Given the description of an element on the screen output the (x, y) to click on. 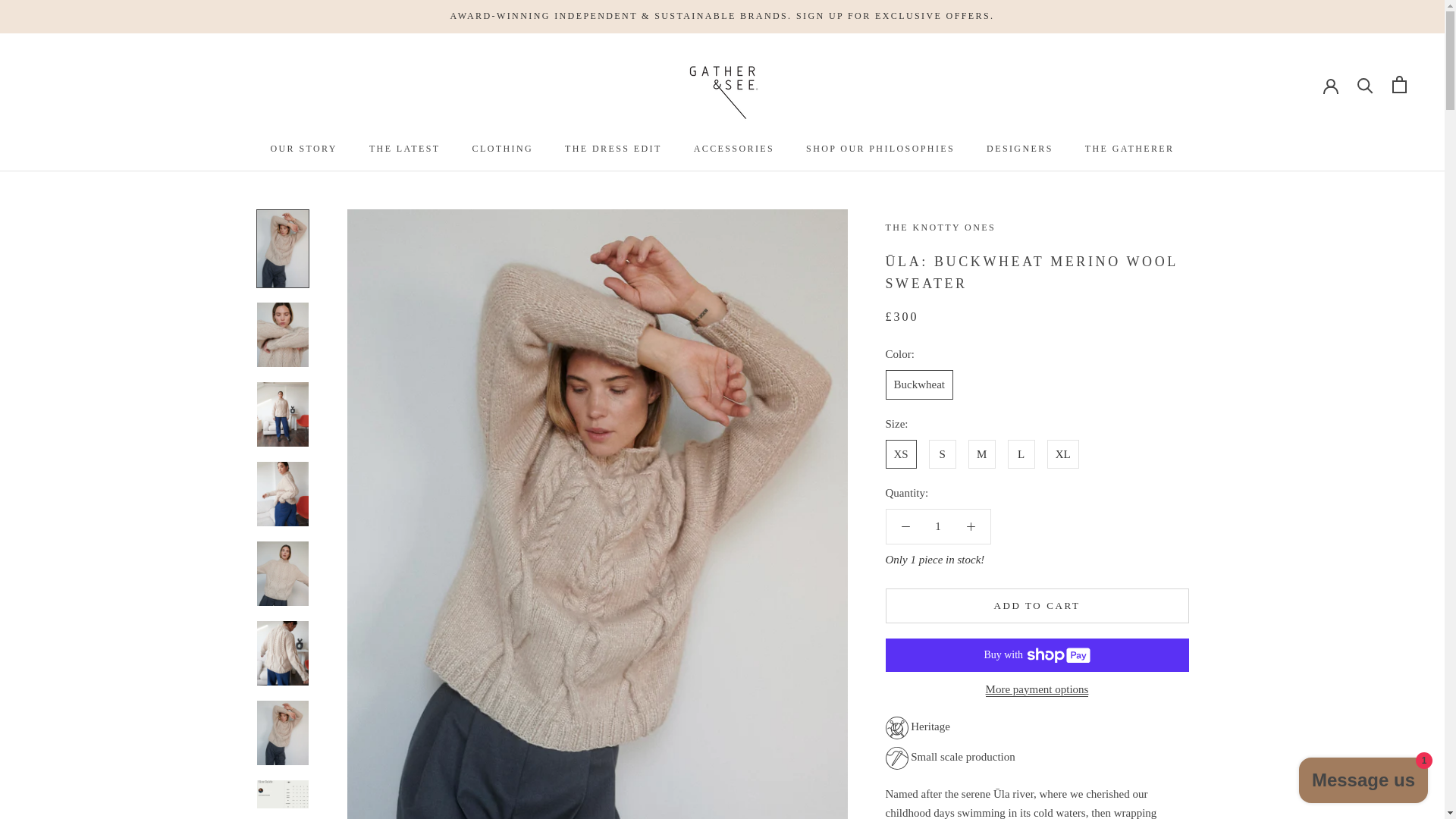
Shopify online store chat (1363, 781)
Small scale production (1037, 757)
1 (938, 526)
Heritage (1029, 727)
